Given the description of an element on the screen output the (x, y) to click on. 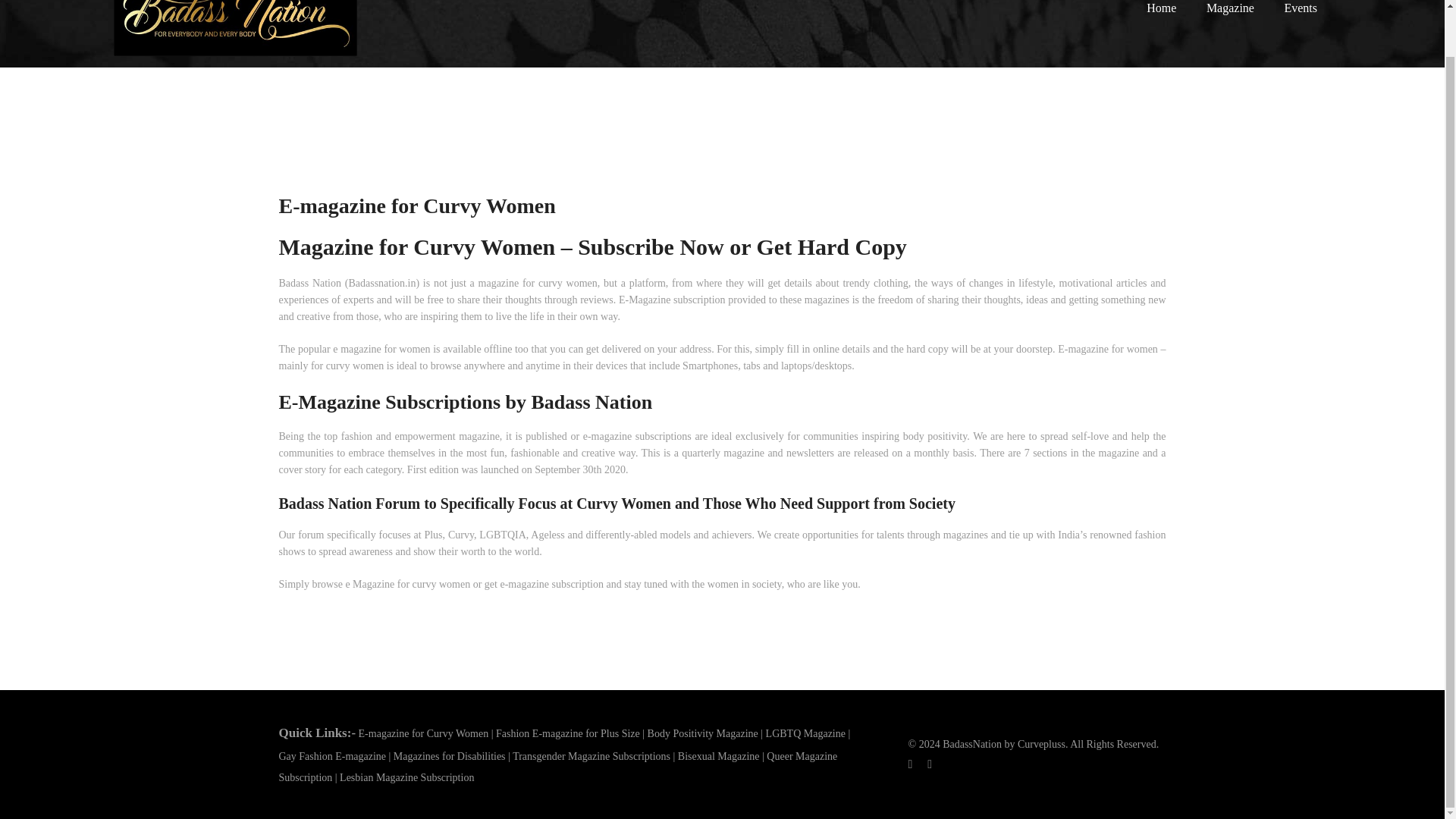
Body Positivity Magazine (702, 683)
Lesbian Magazine Subscription (406, 727)
Magazines for Disabilities (449, 706)
Bisexual Magazine (719, 706)
Fashion E-magazine for Plus Size (568, 683)
LGBTQ Magazine (805, 683)
Transgender Magazine Subscriptions (590, 706)
Magazines for Disabilities (449, 706)
Body Positivity Magazine (702, 683)
Queer Magazine Subscription (558, 717)
